Given the description of an element on the screen output the (x, y) to click on. 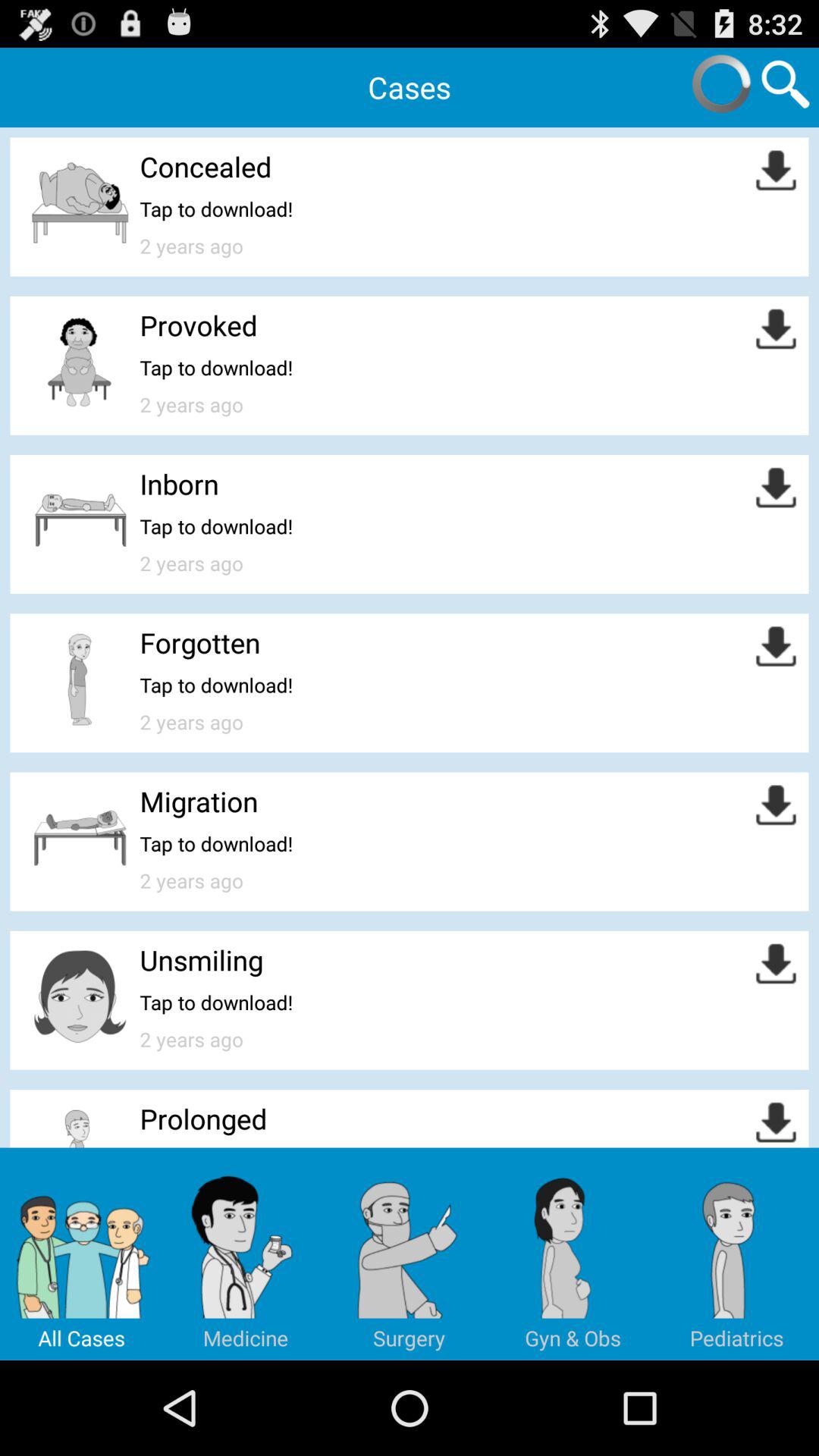
tap concealed app (205, 166)
